Given the description of an element on the screen output the (x, y) to click on. 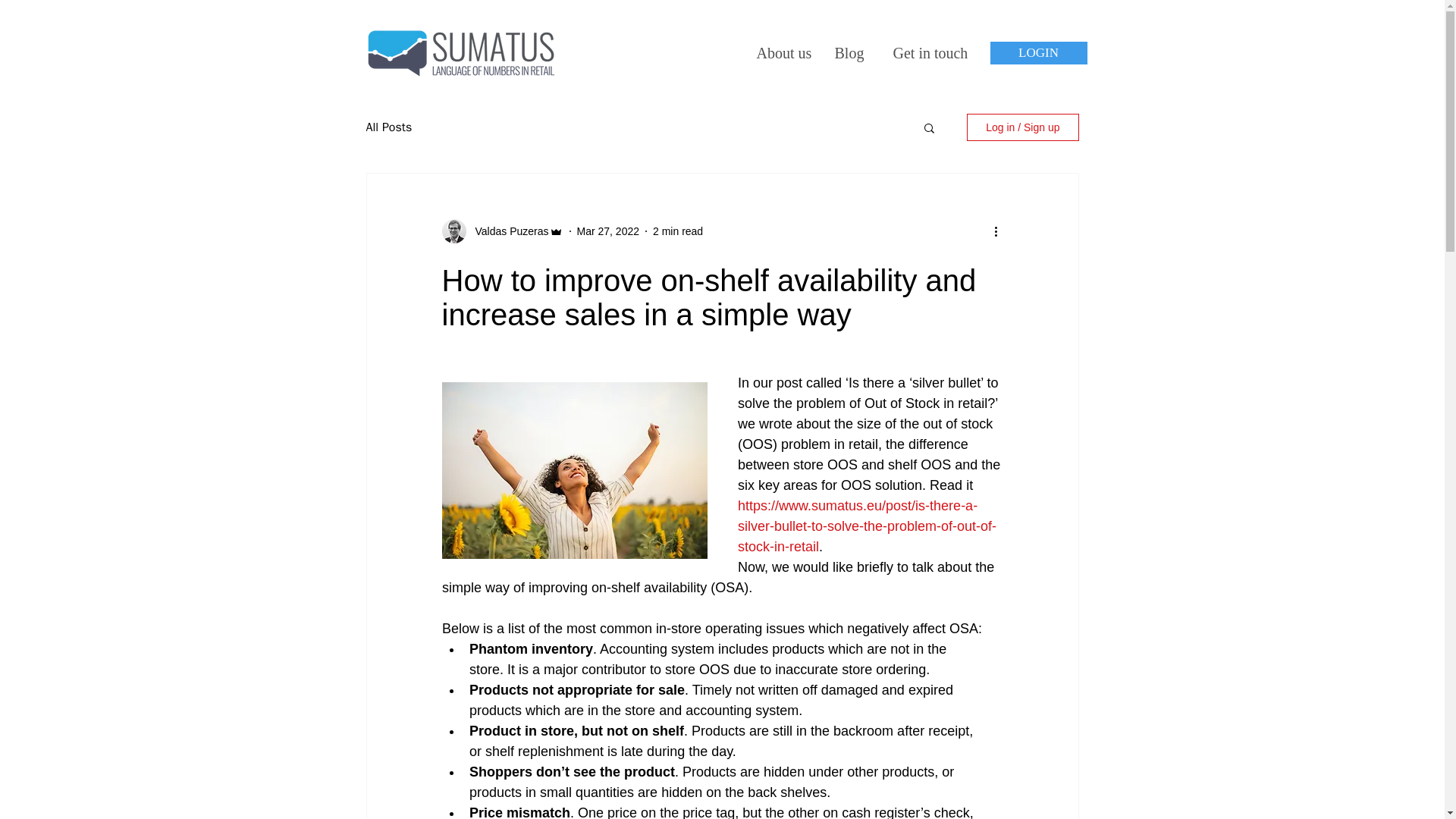
2 min read (677, 230)
Valdas Puzeras (506, 230)
Blog (853, 53)
All Posts (388, 127)
Get in touch (928, 53)
LOGIN (1038, 52)
Mar 27, 2022 (608, 230)
About us (783, 53)
